Given the description of an element on the screen output the (x, y) to click on. 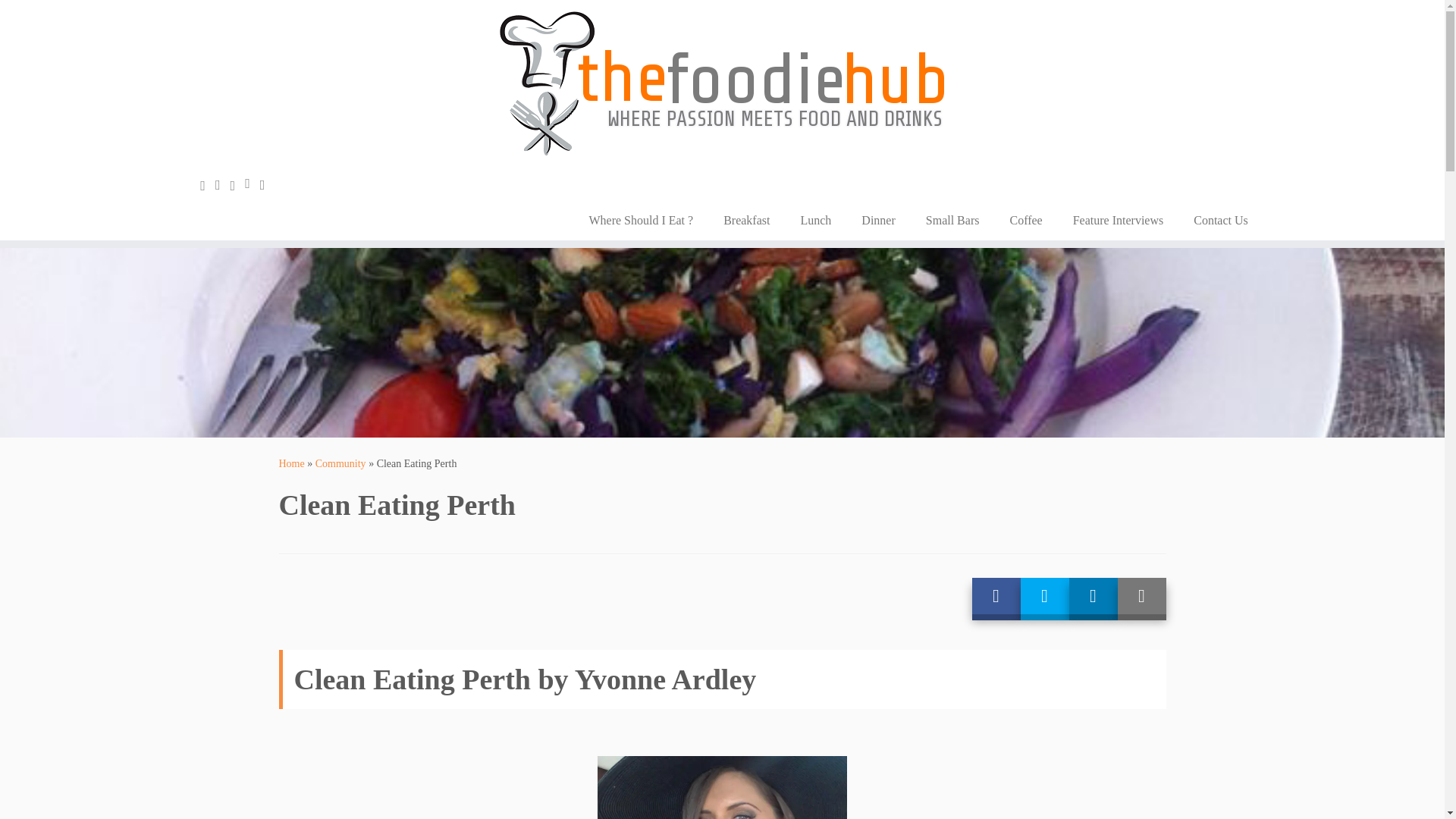
Where Should I Eat ? (640, 219)
Dinner (877, 219)
Pin me on Pinterest (267, 184)
Contact Us (1212, 219)
Feature Interviews (1118, 219)
Community (340, 463)
Follow me on Youtube (252, 183)
Breakfast (745, 219)
Follow me on Instagram (238, 185)
Coffee (1025, 219)
Follow me on Twitter (207, 185)
Follow me on Facebook (222, 184)
The Foodie Hub (291, 463)
Community (340, 463)
Small Bars (952, 219)
